Given the description of an element on the screen output the (x, y) to click on. 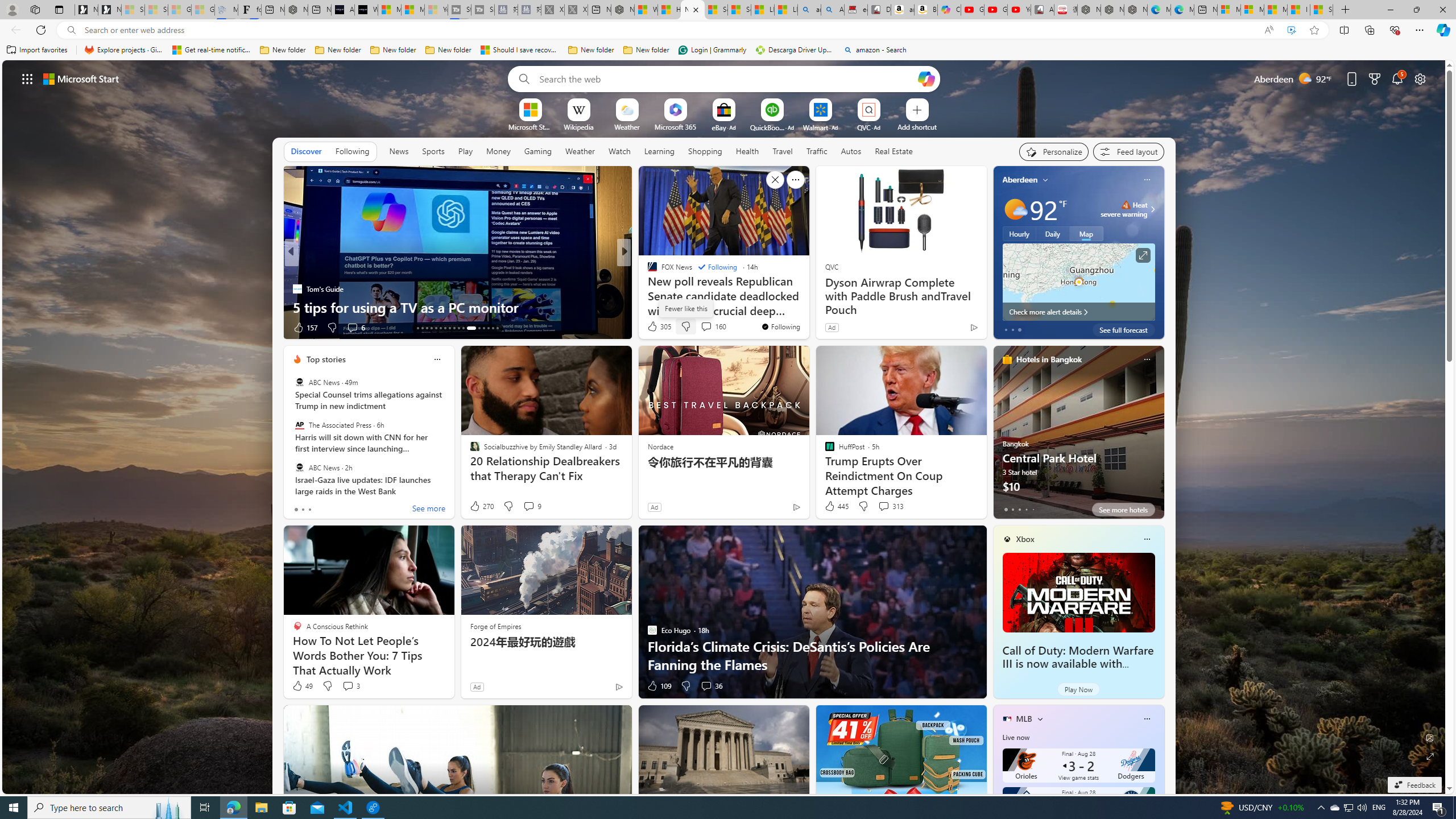
Play (465, 151)
Add a site (916, 126)
AutomationID: tab-13 (417, 328)
AI Voice Changer for PC and Mac - Voice.ai (342, 9)
News (398, 151)
Money (497, 151)
See more (428, 509)
Collections (1369, 29)
Real Estate (893, 151)
See more (795, 179)
Minimize (1390, 9)
